Given the description of an element on the screen output the (x, y) to click on. 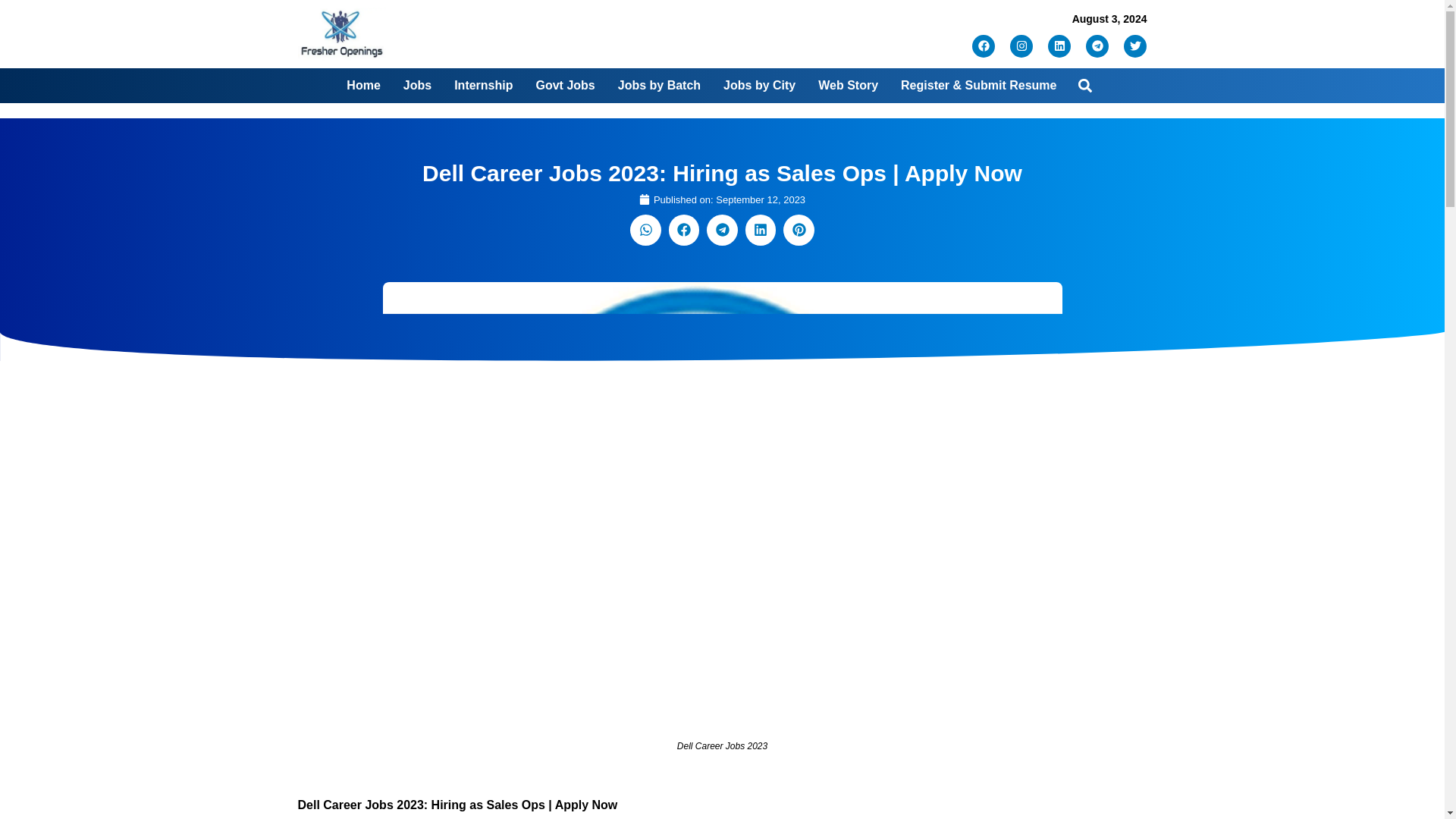
Home (363, 85)
Jobs by Batch (658, 85)
Govt Jobs (564, 85)
Jobs by City (758, 85)
Web Story (847, 85)
Internship (483, 85)
